Given the description of an element on the screen output the (x, y) to click on. 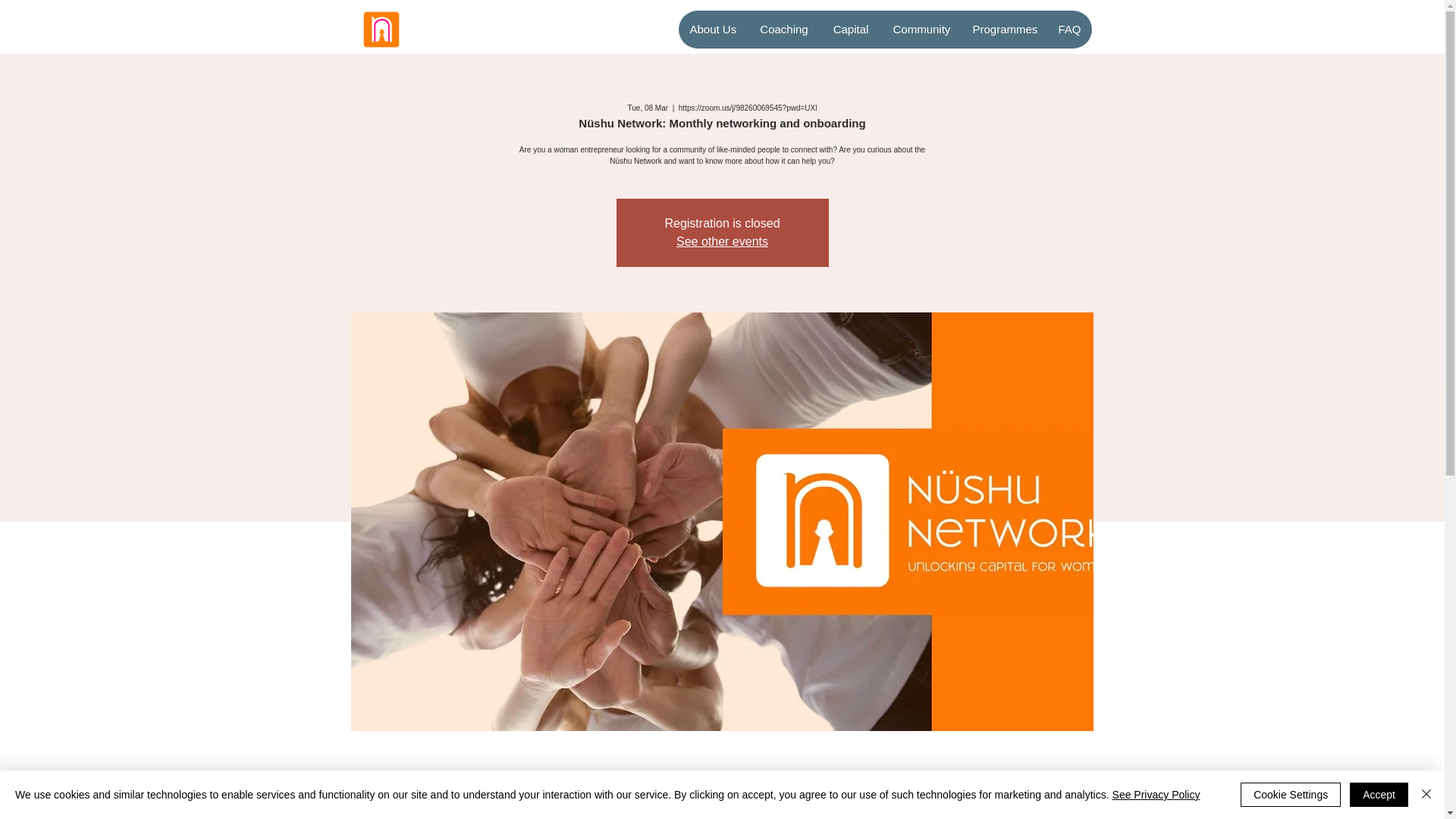
Programmes (1002, 29)
About Us (712, 29)
See Privacy Policy (1155, 794)
See other events (722, 241)
Capital (850, 29)
Cookie Settings (1290, 794)
Community (920, 29)
Accept (1378, 794)
FAQ (1069, 29)
Coaching (784, 29)
